Given the description of an element on the screen output the (x, y) to click on. 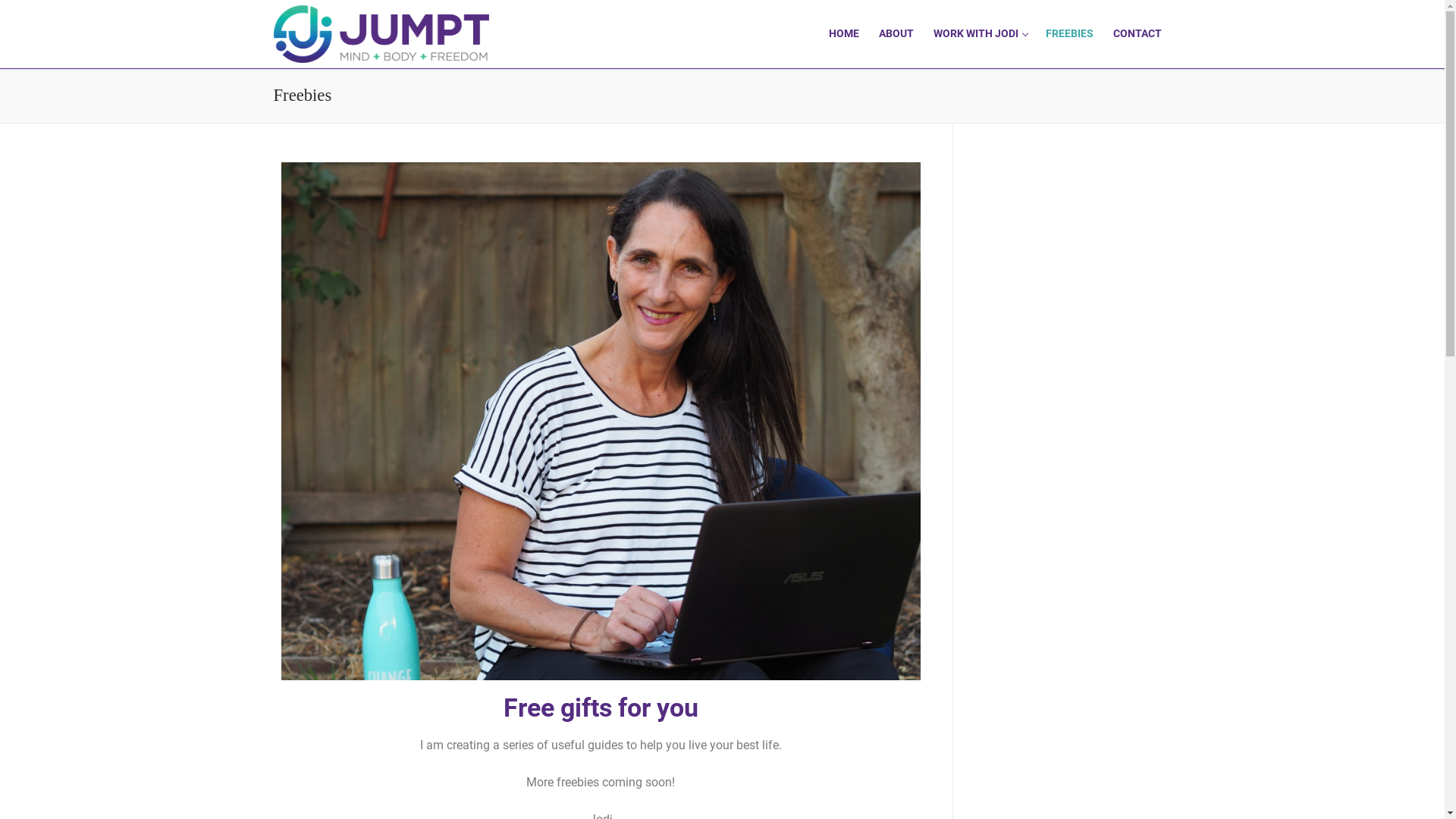
ABOUT Element type: text (896, 33)
HOME Element type: text (844, 33)
FREEBIES Element type: text (1069, 33)
WORK WITH JODI
  Element type: text (979, 33)
CONTACT Element type: text (1136, 33)
